Given the description of an element on the screen output the (x, y) to click on. 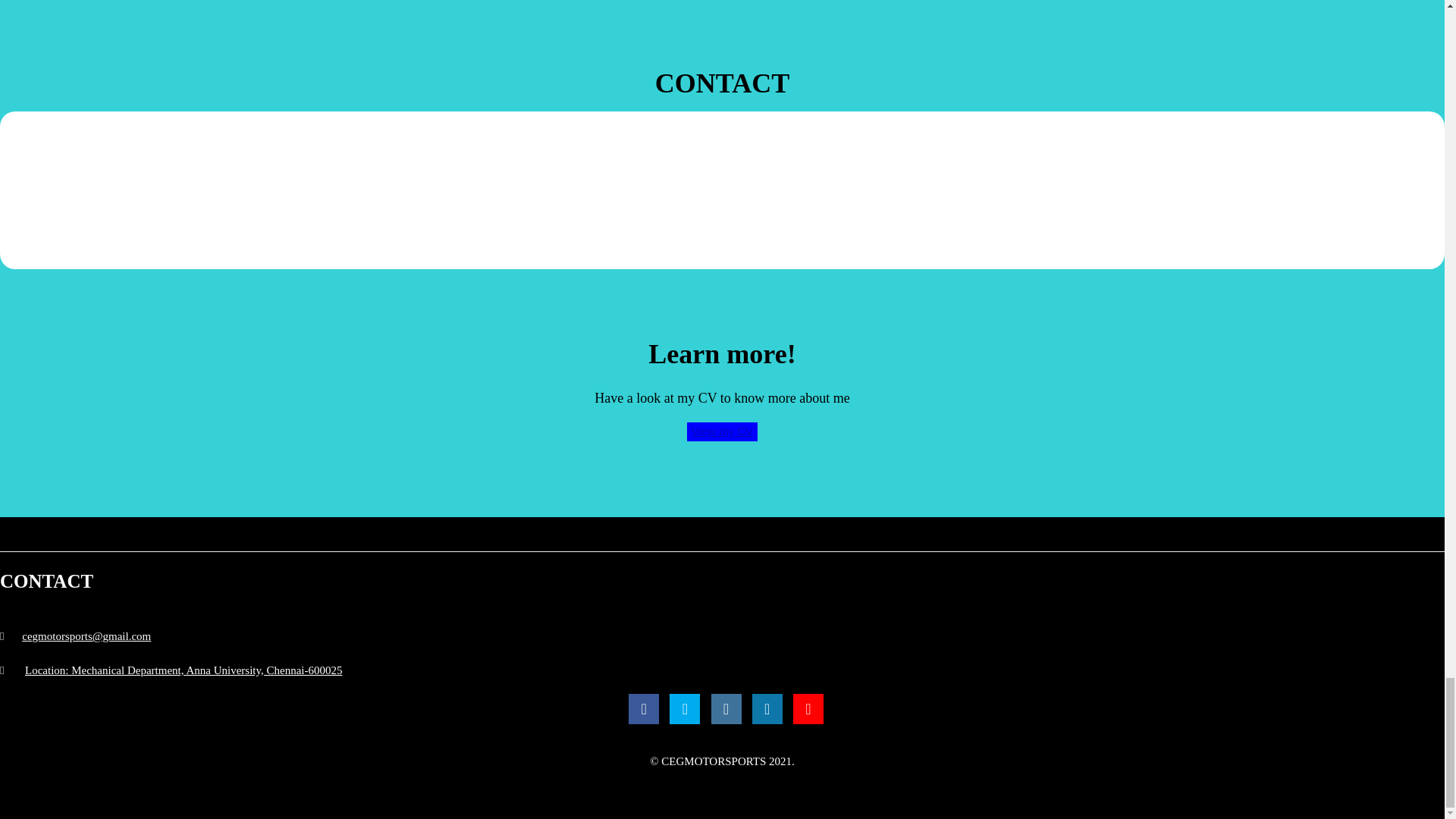
View my CV (722, 431)
View my CV (721, 431)
